Given the description of an element on the screen output the (x, y) to click on. 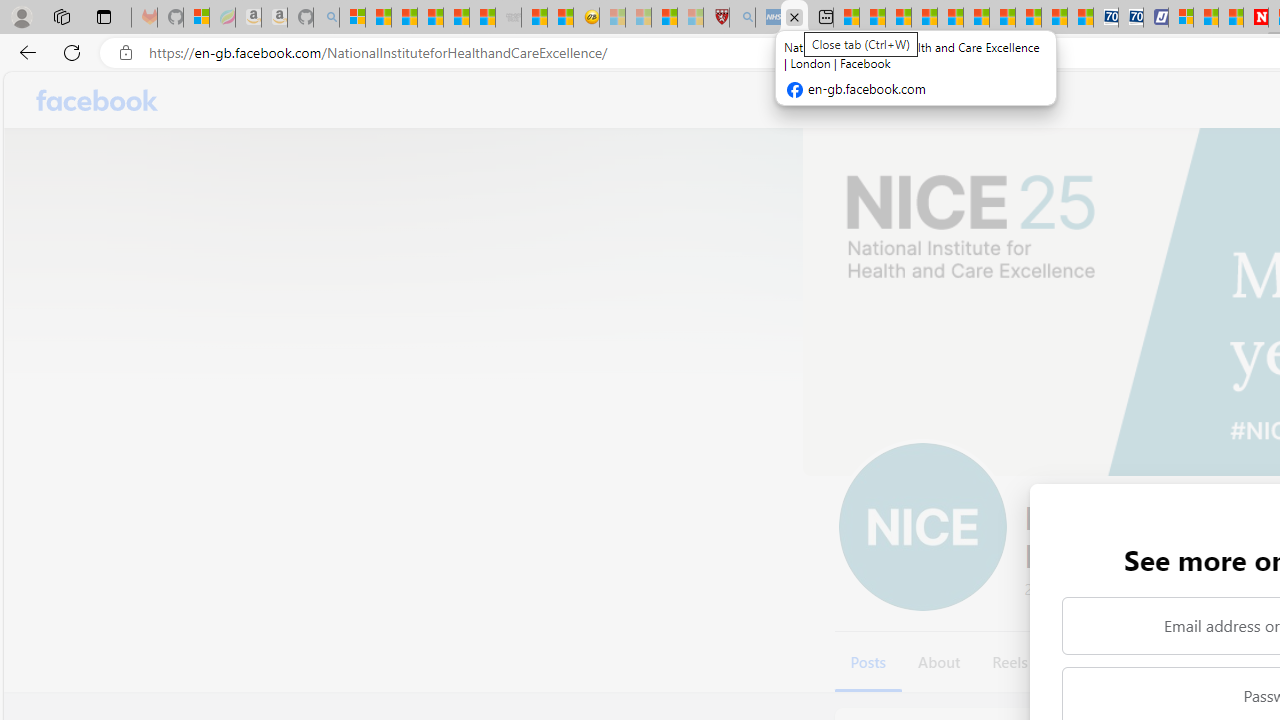
Newsweek - News, Analysis, Politics, Business, Technology (1256, 17)
The Weather Channel - MSN (404, 17)
Stocks - MSN (482, 17)
12 Popular Science Lies that Must be Corrected - Sleeping (690, 17)
Combat Siege - Sleeping (507, 17)
Cheap Car Rentals - Save70.com (1105, 17)
Recipes - MSN - Sleeping (612, 17)
Cheap Hotels - Save70.com (1130, 17)
